Given the description of an element on the screen output the (x, y) to click on. 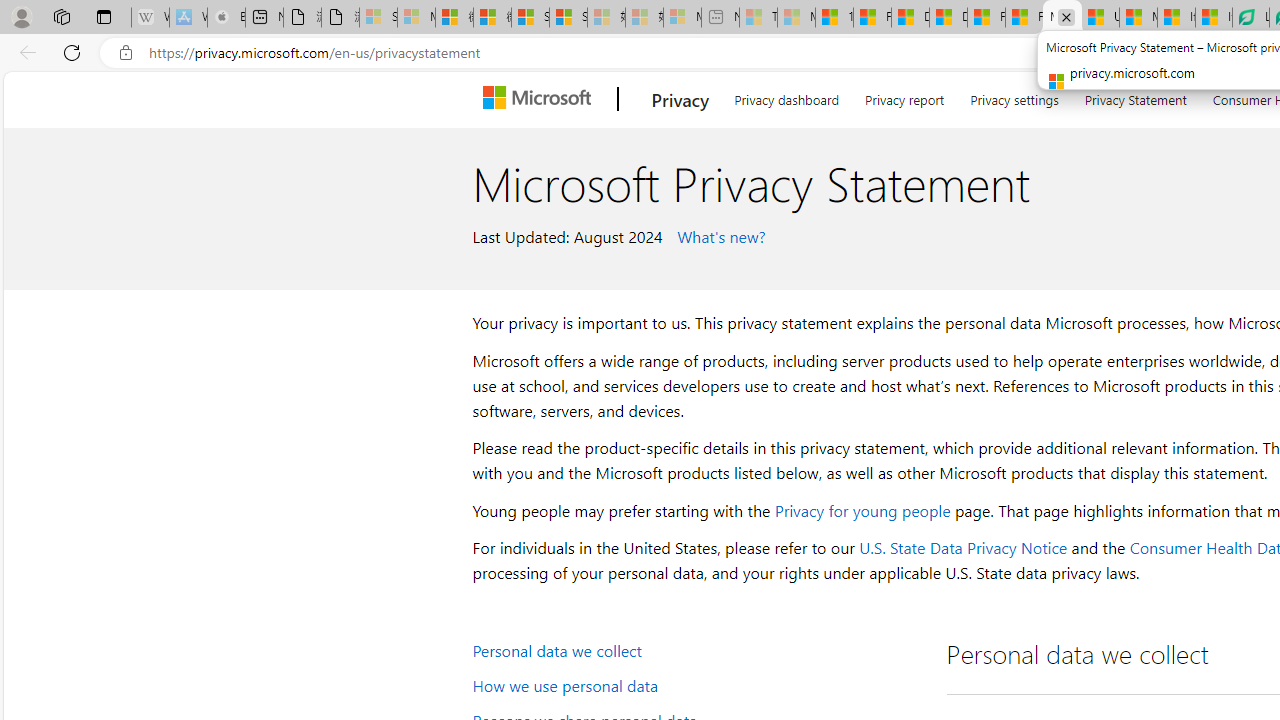
Buy iPad - Apple - Sleeping (225, 17)
Privacy Statement (1135, 96)
Microsoft Services Agreement - Sleeping (416, 17)
U.S. State Data Privacy Notice (962, 547)
Microsoft account | Account Checkup - Sleeping (682, 17)
Privacy for young people (862, 509)
Privacy settings (1014, 96)
